Given the description of an element on the screen output the (x, y) to click on. 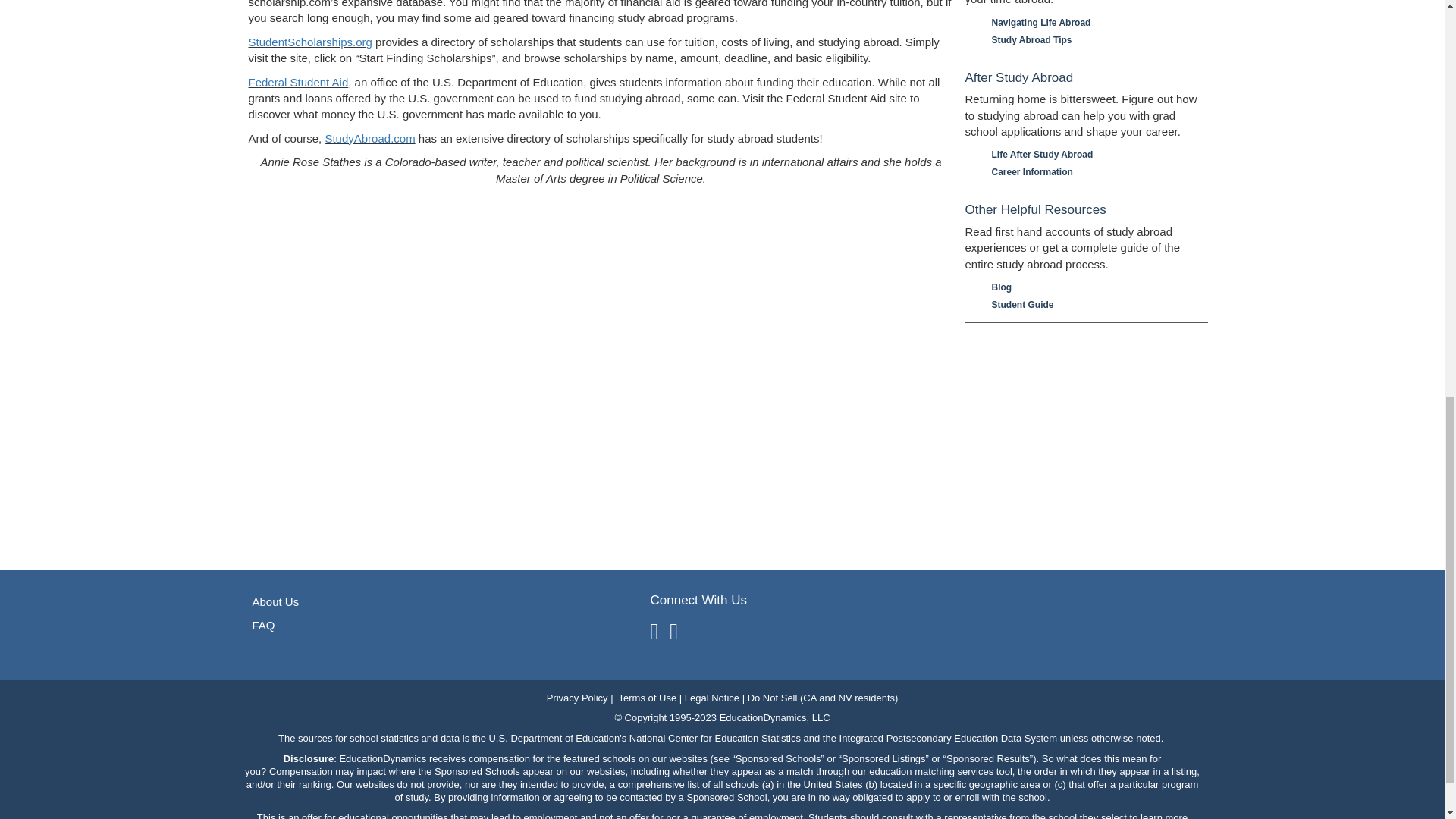
Navigating Life Abroad (1092, 23)
Federal Student Aid (298, 82)
StudyAbroad.com (369, 137)
StudentScholarships.org (310, 42)
